Given the description of an element on the screen output the (x, y) to click on. 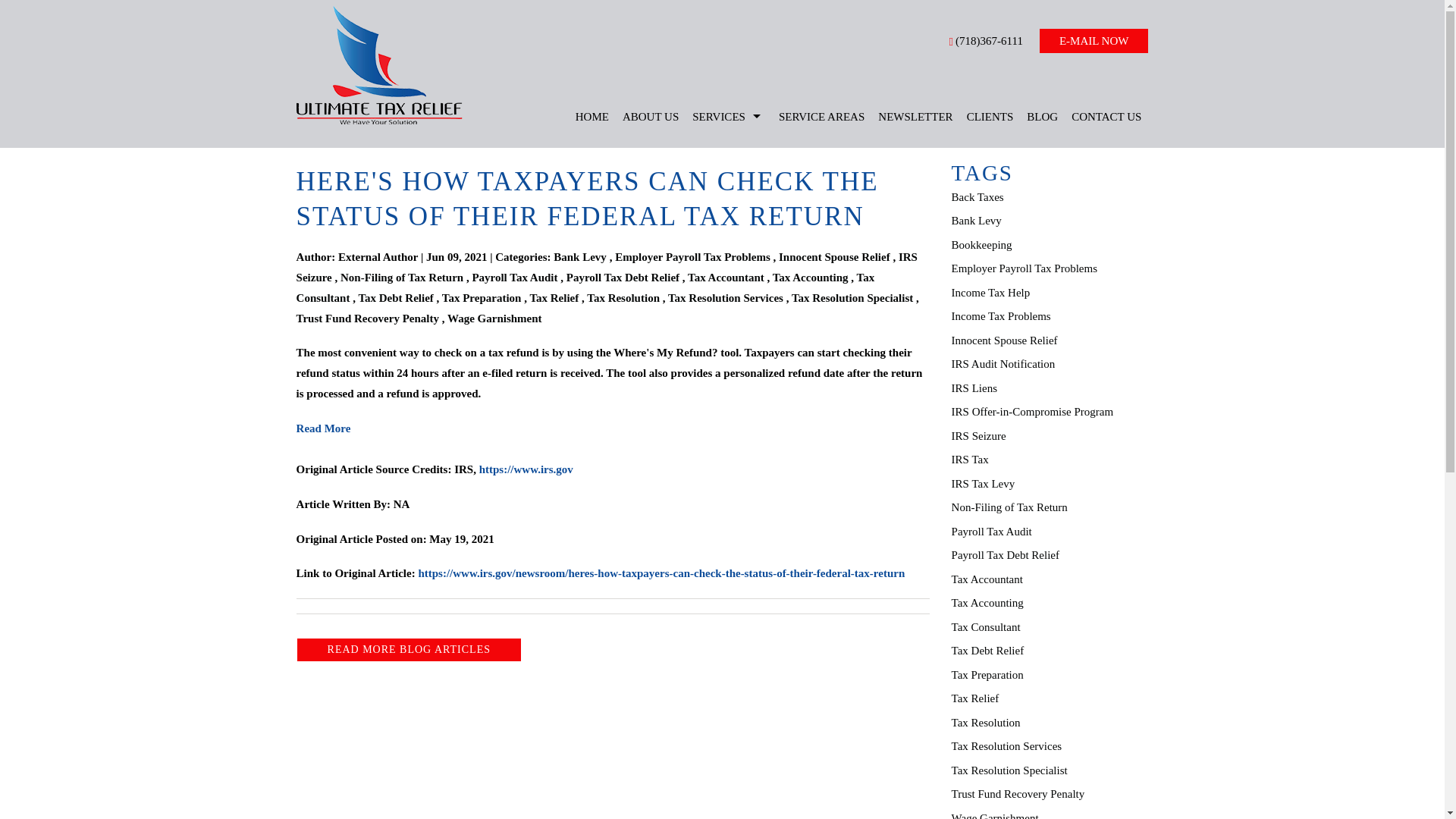
Tax Resolution Services (725, 297)
Bank Levy (580, 256)
Tax Debt Relief (395, 297)
SERVICE AREAS (820, 117)
BLOG (1042, 117)
HOME (592, 117)
IRS Seizure (607, 266)
Tax Accountant (725, 277)
CONTACT US (1106, 117)
Tax Relief (553, 297)
